Given the description of an element on the screen output the (x, y) to click on. 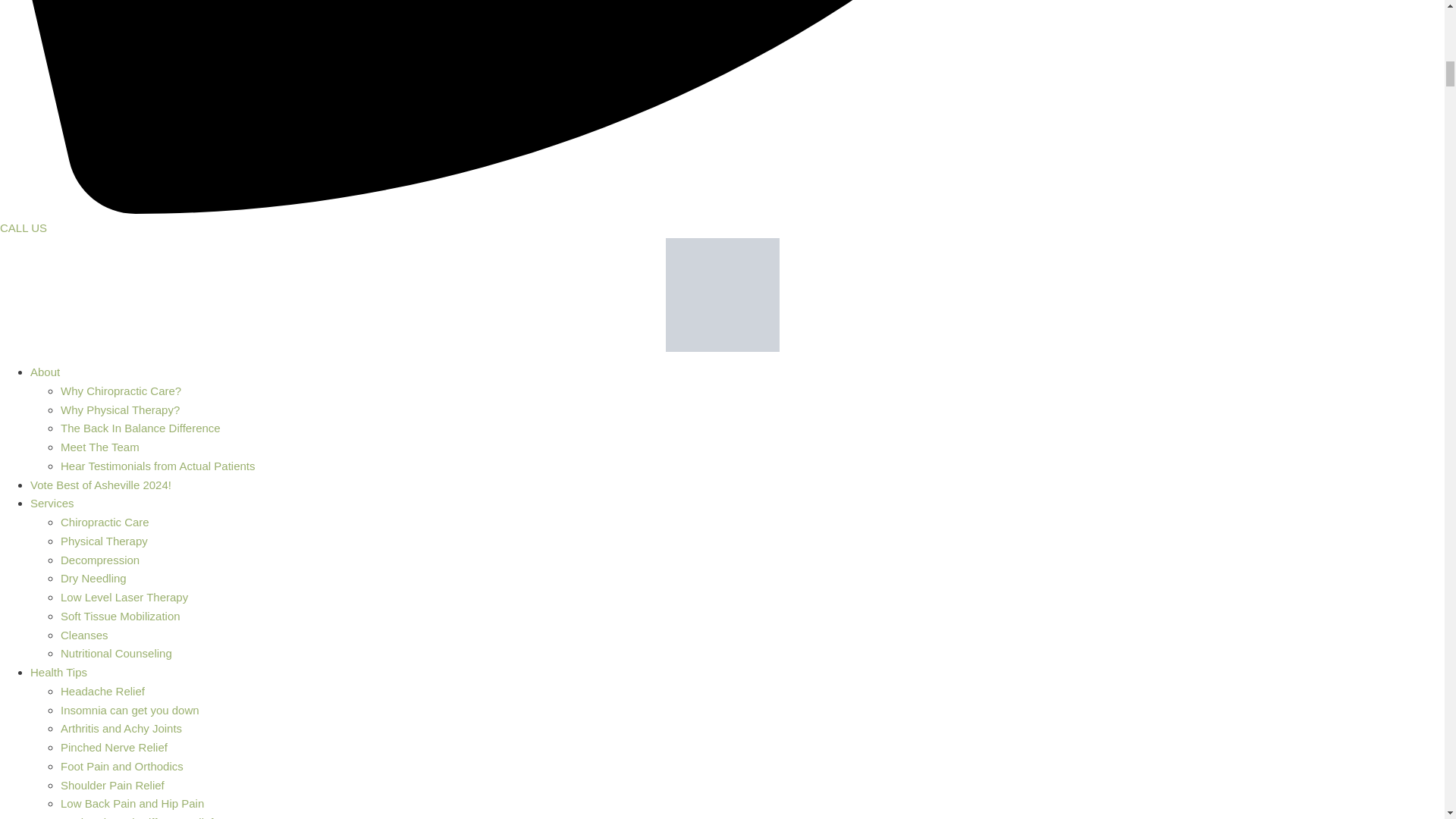
Meet The Team (100, 446)
Foot Pain and Orthodics (122, 766)
About (44, 371)
Health Tips (58, 671)
Pinched Nerve Relief (114, 747)
Dry Needling (93, 577)
Why Physical Therapy? (120, 409)
Soft Tissue Mobilization (120, 615)
Physical Therapy (104, 540)
Why Chiropractic Care? (120, 390)
Insomnia can get you down (130, 709)
Decompression (100, 559)
About (44, 371)
Decompression (100, 559)
The Back In Balance Difference (141, 427)
